Given the description of an element on the screen output the (x, y) to click on. 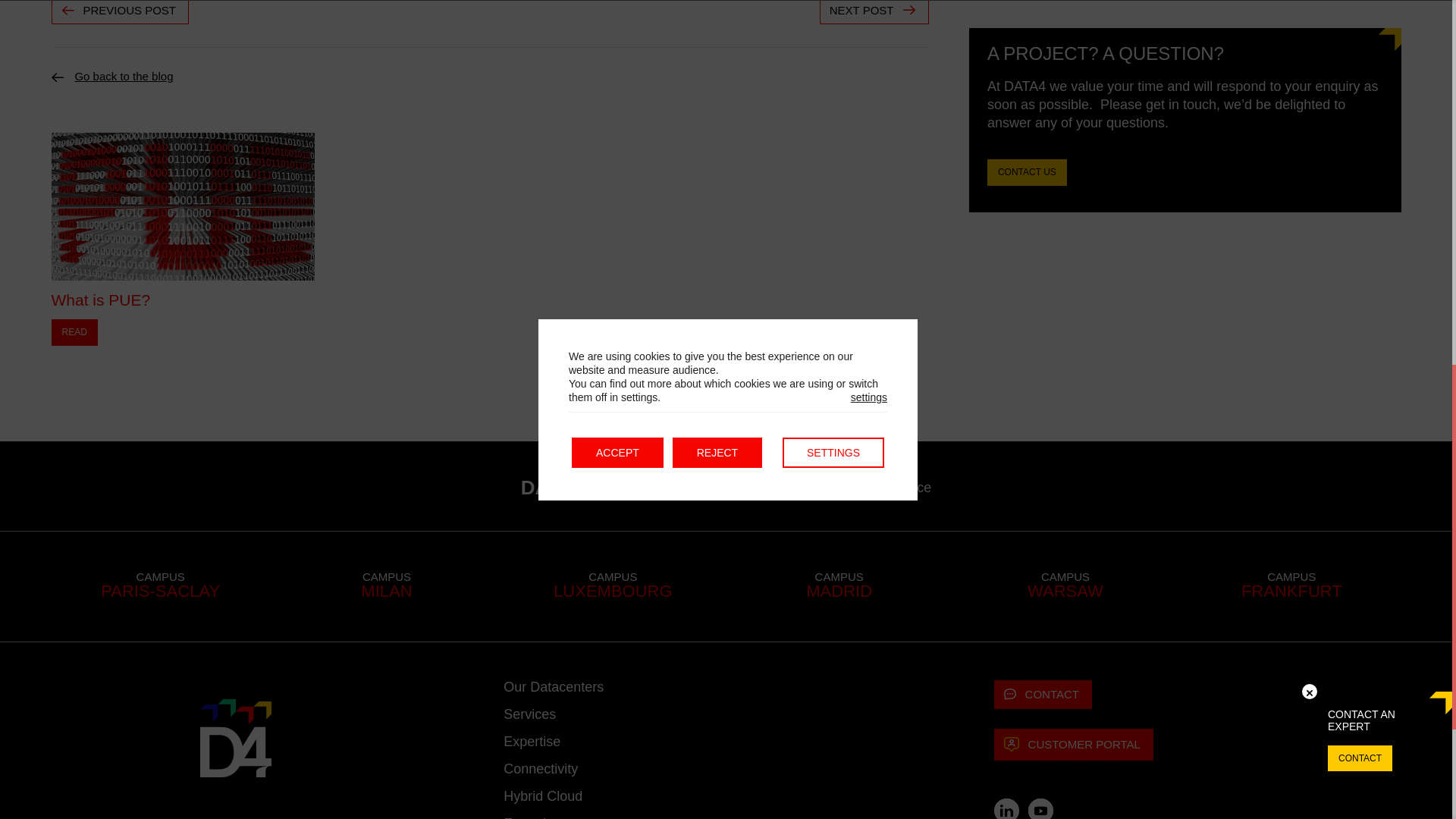
Go back to the blog (123, 75)
